Given the description of an element on the screen output the (x, y) to click on. 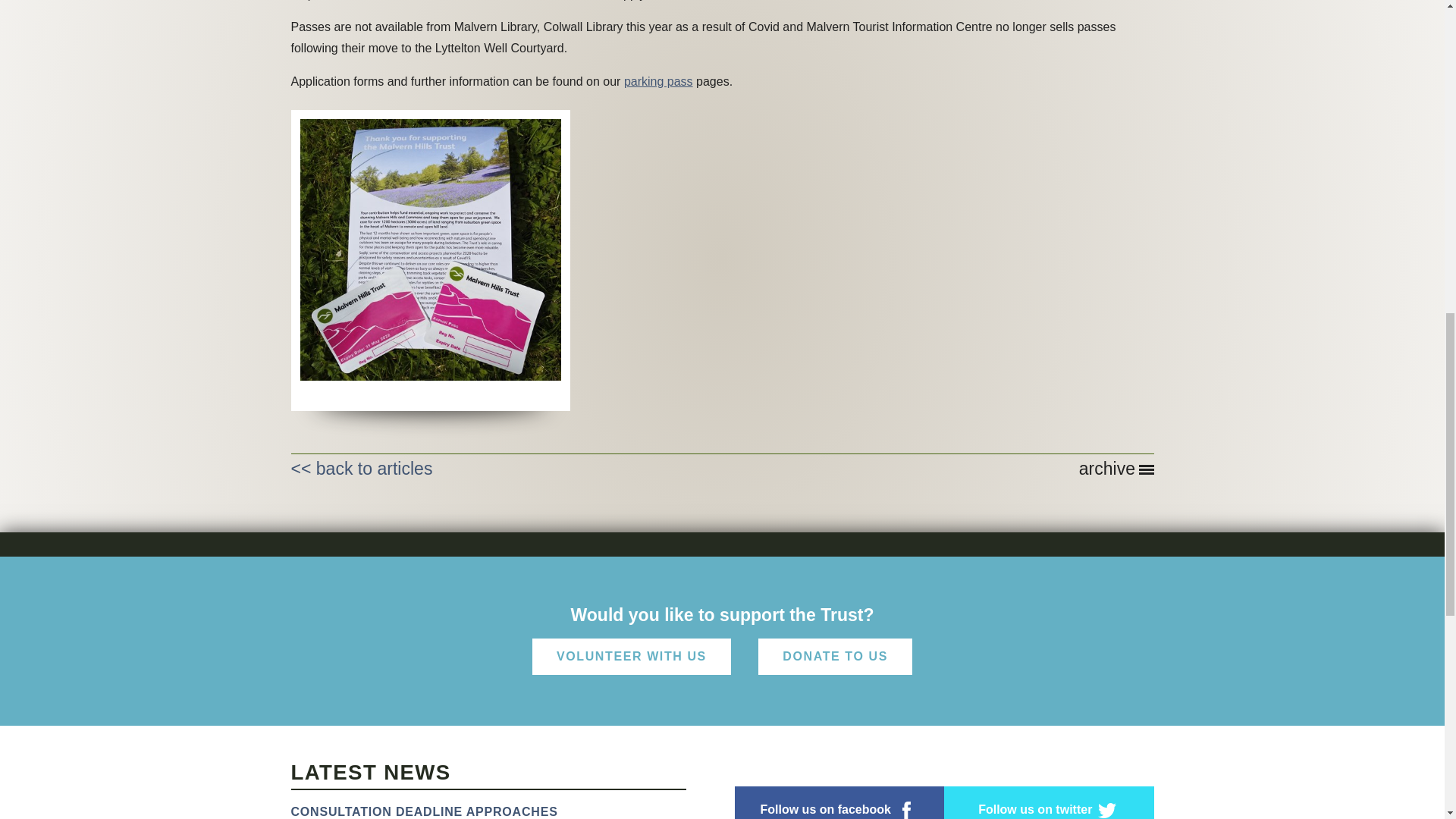
Parking (658, 81)
